Given the description of an element on the screen output the (x, y) to click on. 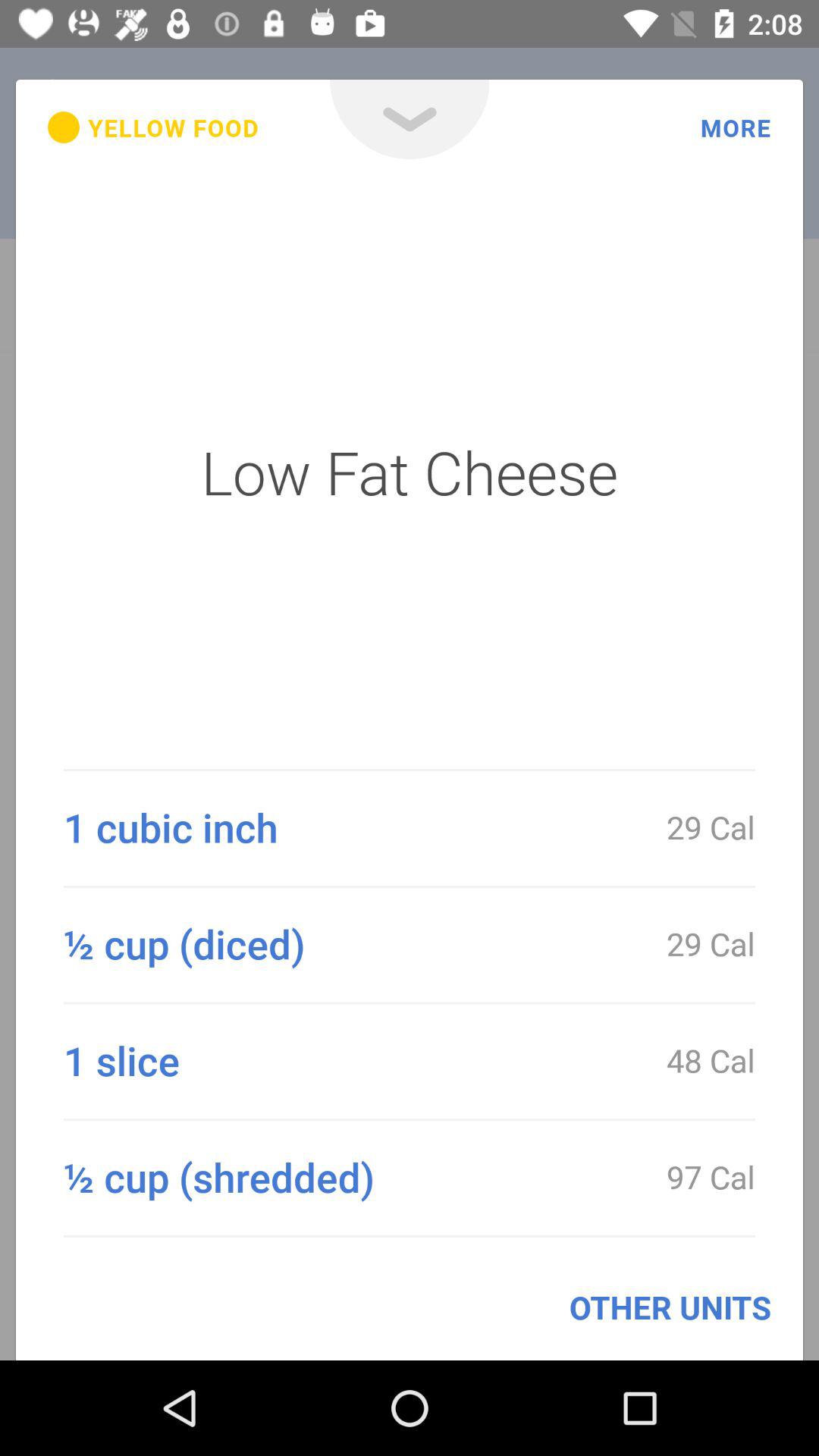
launch the item above the low fat cheese icon (409, 119)
